Given the description of an element on the screen output the (x, y) to click on. 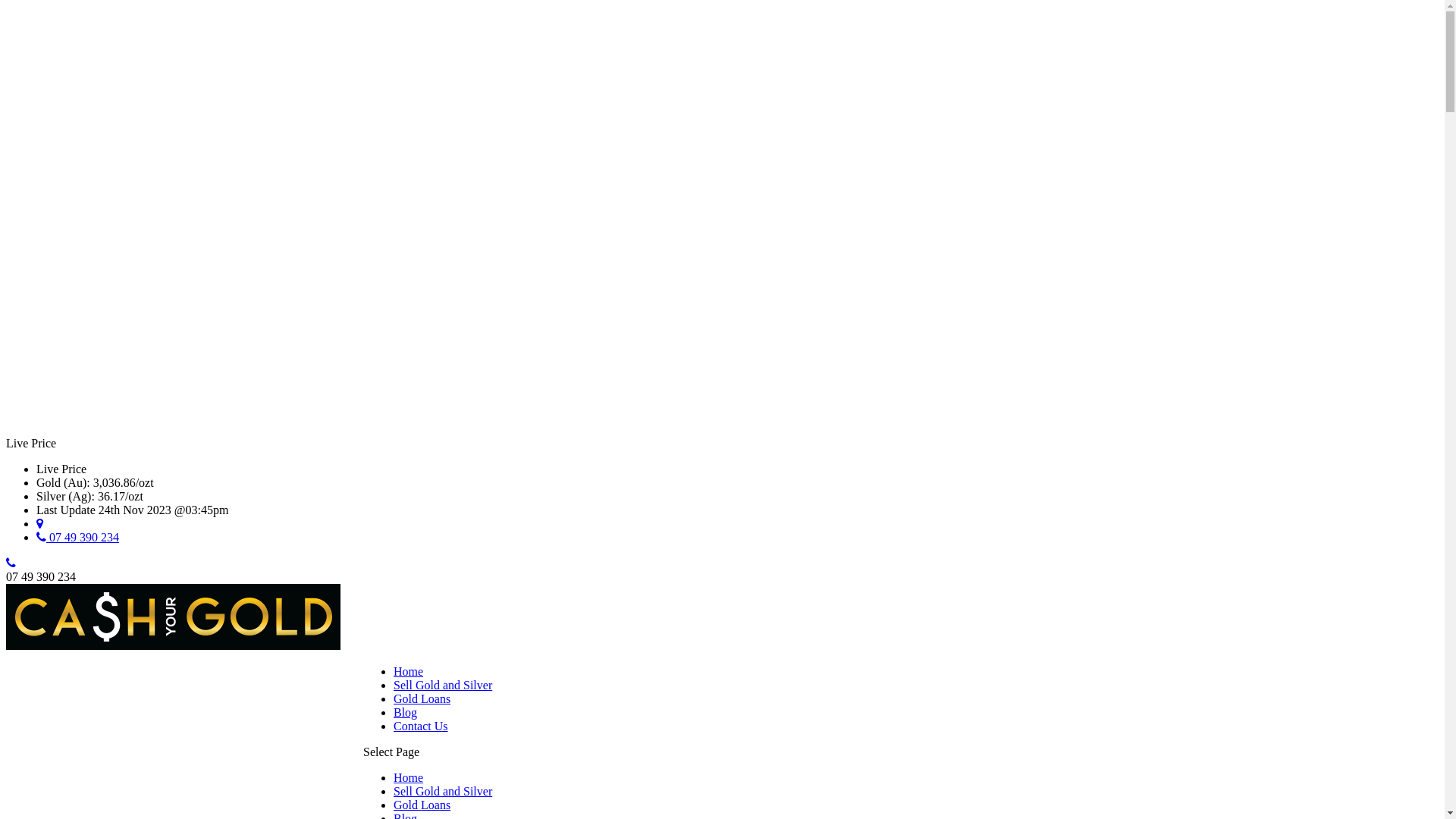
Gold Loans Element type: text (421, 804)
Sell Gold and Silver Element type: text (442, 790)
Home Element type: text (408, 671)
Sell Gold and Silver Element type: text (442, 684)
07 49 390 234 Element type: text (77, 536)
Gold Loans Element type: text (421, 698)
Contact Us Element type: text (420, 725)
Blog Element type: text (405, 712)
Home Element type: text (408, 777)
